Given the description of an element on the screen output the (x, y) to click on. 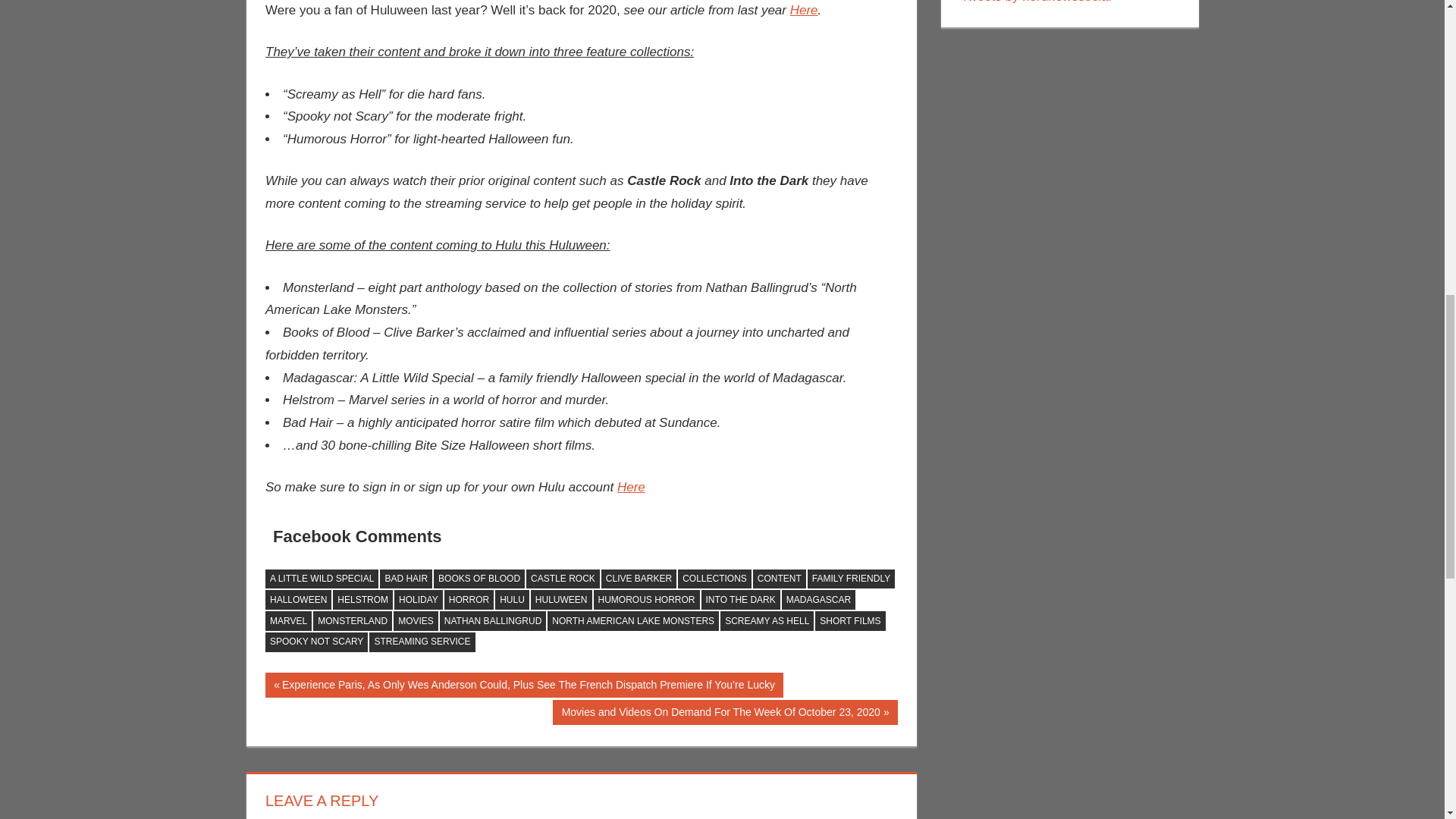
CLIVE BARKER (639, 578)
A LITTLE WILD SPECIAL (321, 578)
FAMILY FRIENDLY (851, 578)
COLLECTIONS (714, 578)
CONTENT (779, 578)
Here (631, 486)
BOOKS OF BLOOD (478, 578)
Here (804, 10)
HALLOWEEN (297, 599)
CASTLE ROCK (562, 578)
